Given the description of an element on the screen output the (x, y) to click on. 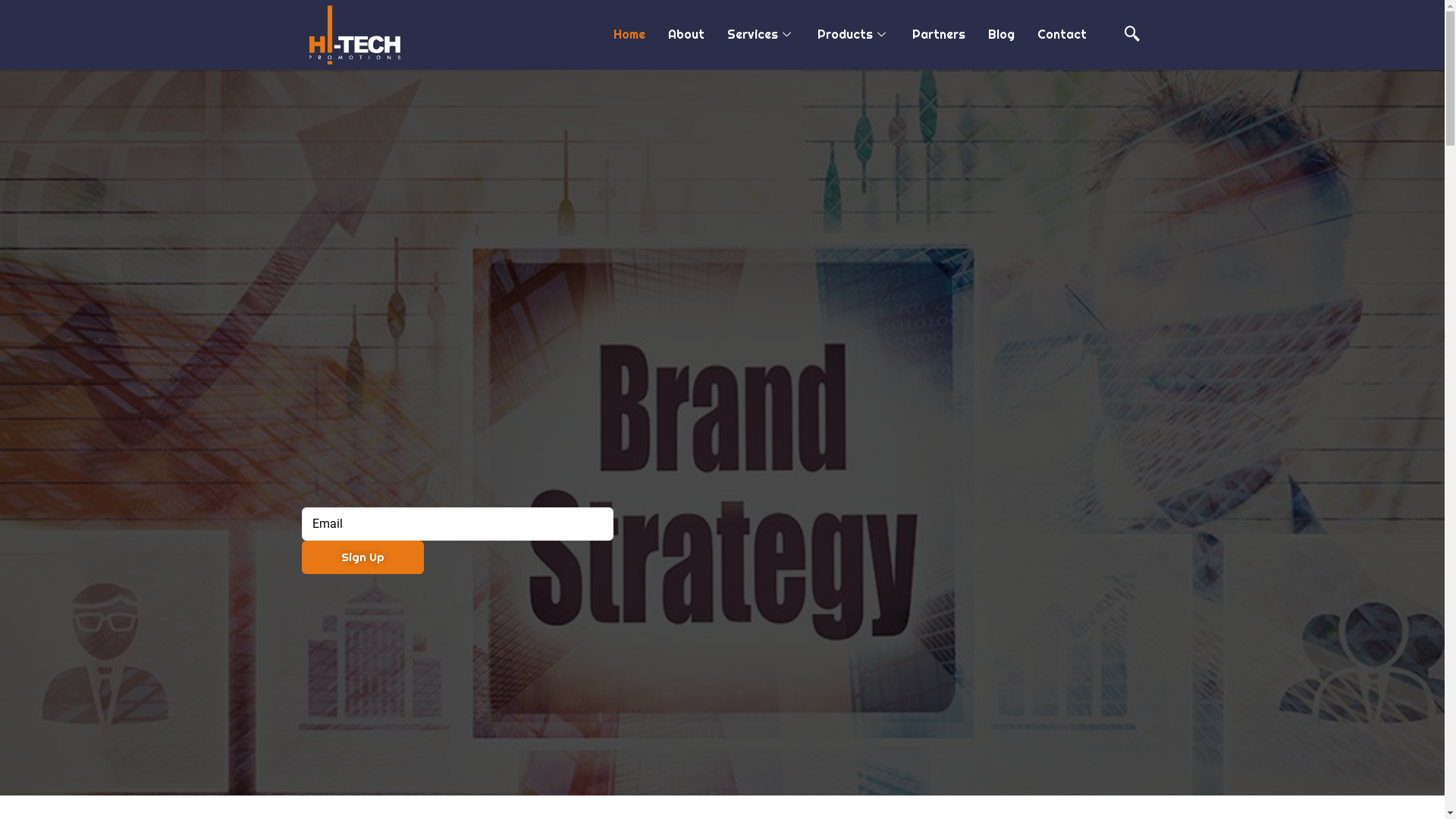
Home Element type: text (629, 34)
Blog Element type: text (1001, 34)
Partners Element type: text (938, 34)
Products Element type: text (853, 34)
Contact Element type: text (1062, 34)
Sign Up Element type: text (362, 557)
Services Element type: text (760, 34)
About Element type: text (685, 34)
